Given the description of an element on the screen output the (x, y) to click on. 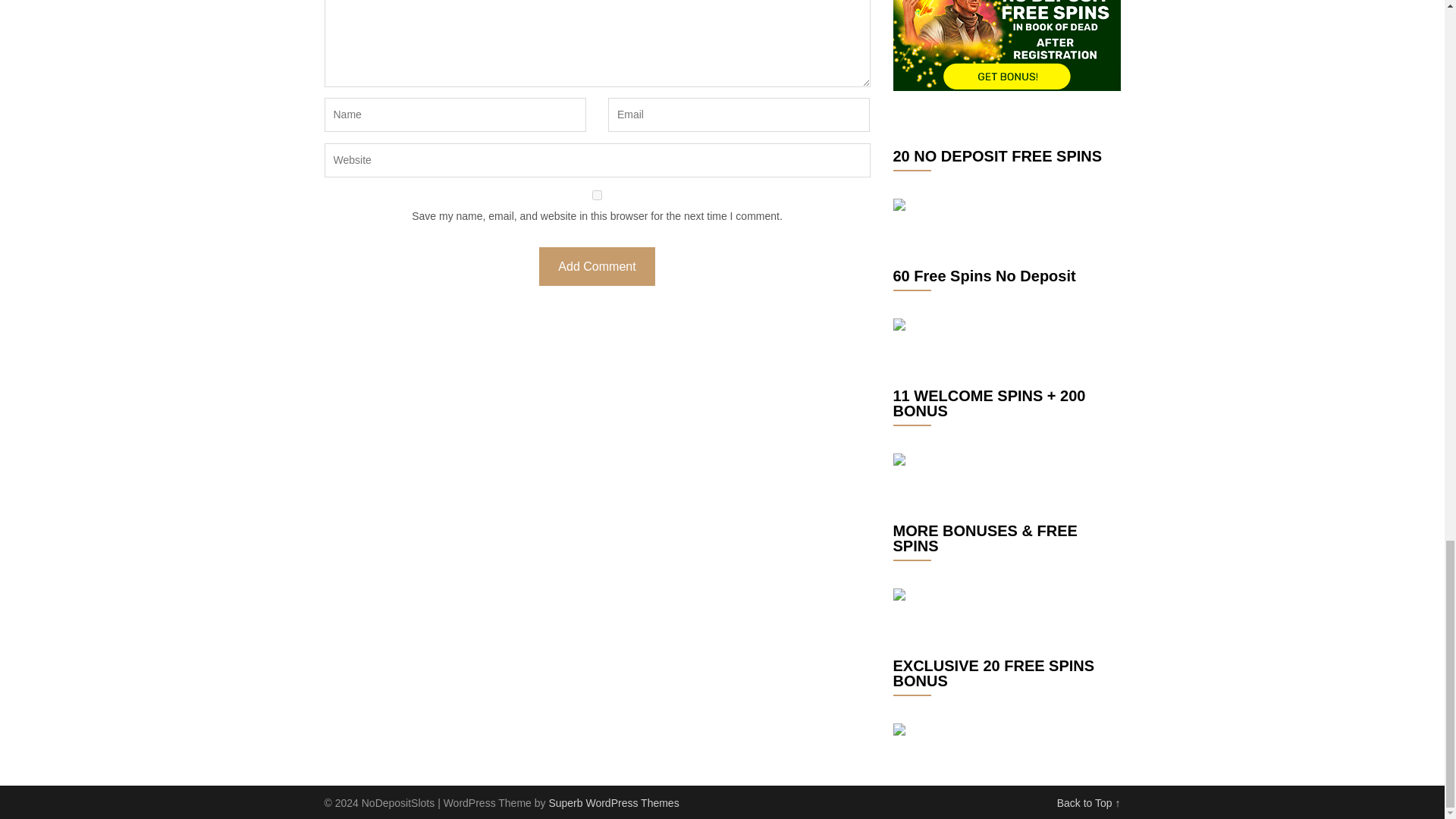
Add Comment (595, 266)
yes (597, 194)
Superb WordPress Themes (613, 802)
Add Comment (595, 266)
